Given the description of an element on the screen output the (x, y) to click on. 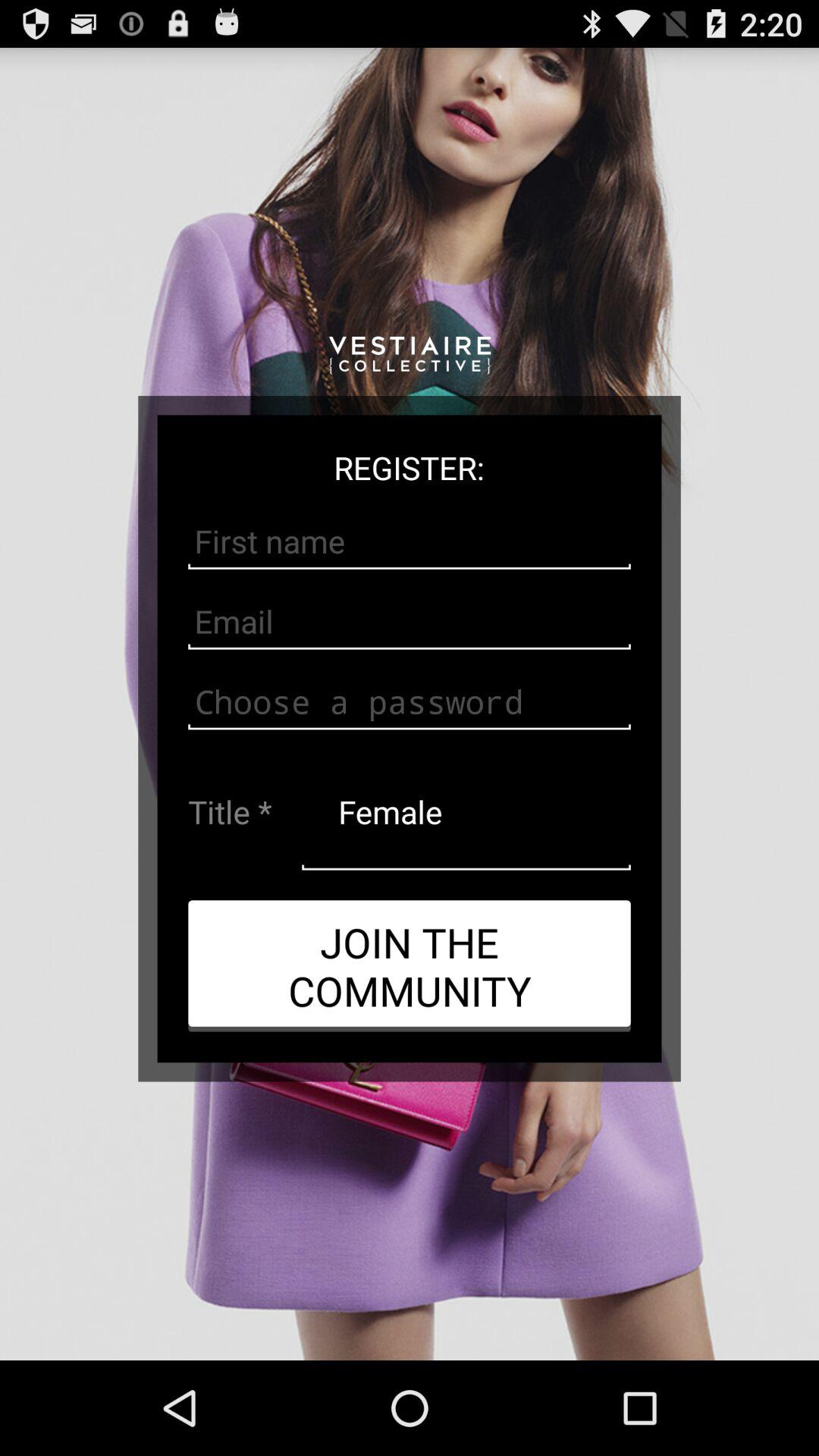
press app below female app (409, 965)
